Given the description of an element on the screen output the (x, y) to click on. 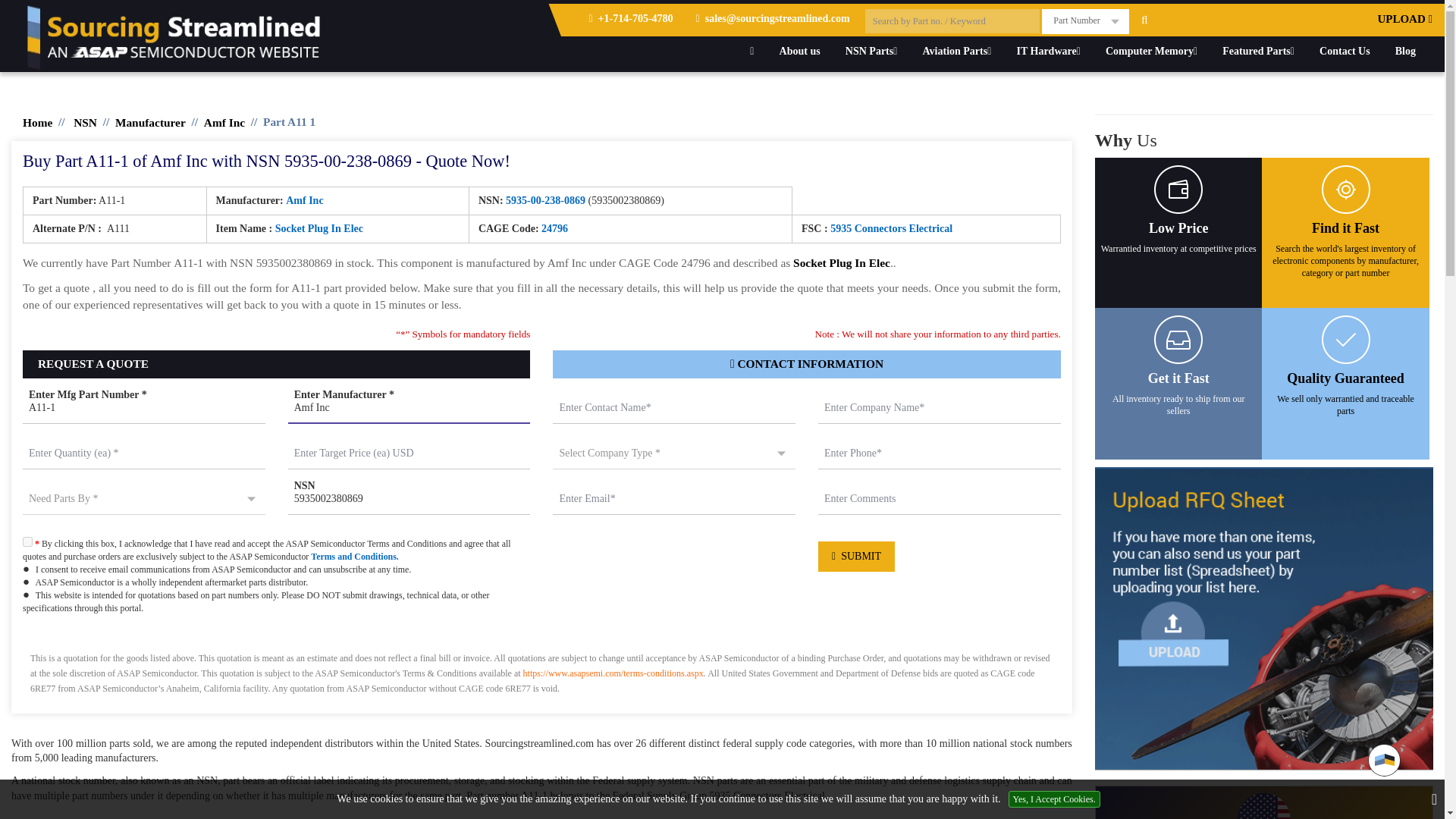
Aviation Parts (957, 51)
Featured Parts (1258, 51)
Contact Us (1344, 51)
5935002380869 (409, 499)
Computer Memory (1151, 51)
disclaimer (542, 669)
on (27, 542)
IT Hardware (1047, 51)
A11-1 (143, 408)
NSN Parts (871, 51)
About us (799, 51)
Blog (1405, 51)
Amf Inc (409, 408)
